Given the description of an element on the screen output the (x, y) to click on. 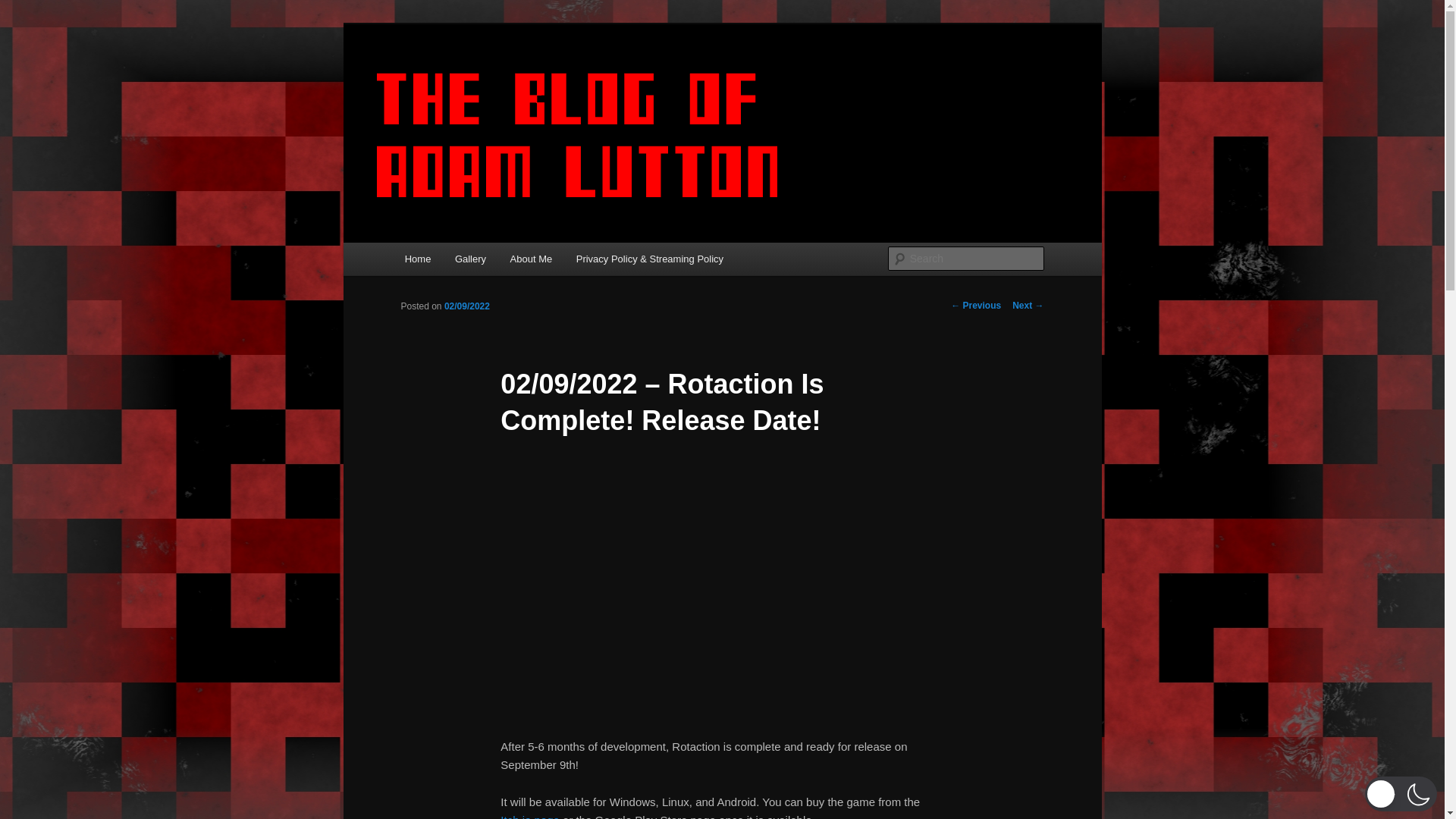
The Blog Of Adam Lutton (537, 78)
Rotaction - Release Date Trailer (721, 601)
Home (417, 258)
Search (24, 8)
Gallery (469, 258)
